Given the description of an element on the screen output the (x, y) to click on. 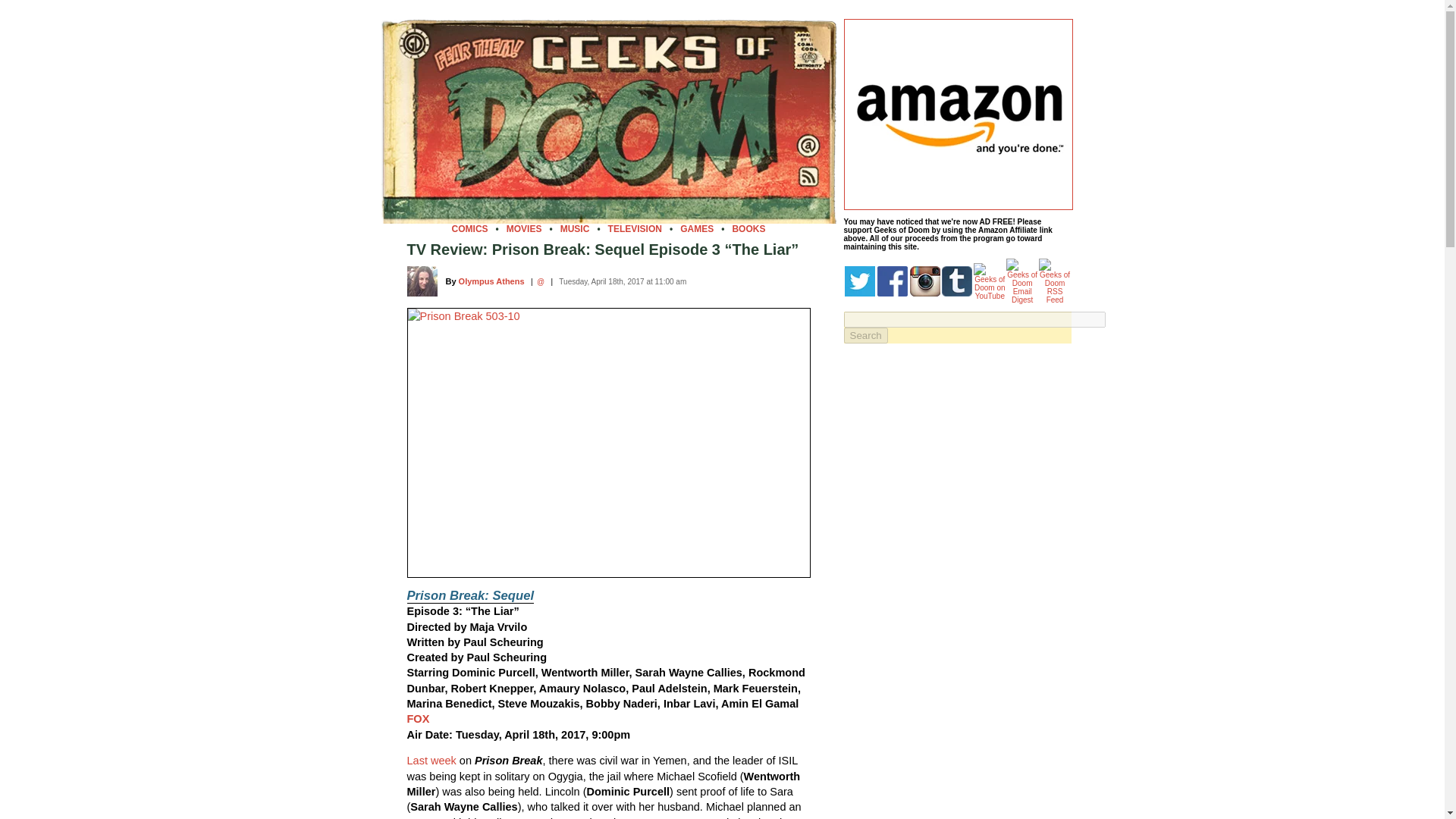
MOVIES (523, 228)
BOOKS (748, 228)
Prison Break 503-10 (607, 442)
Search (864, 335)
GAMES (696, 228)
Follow Olympus Athens on Twitter (540, 281)
FOX (417, 718)
TELEVISION (635, 228)
Olympus Athens (491, 280)
MUSIC (574, 228)
